Given the description of an element on the screen output the (x, y) to click on. 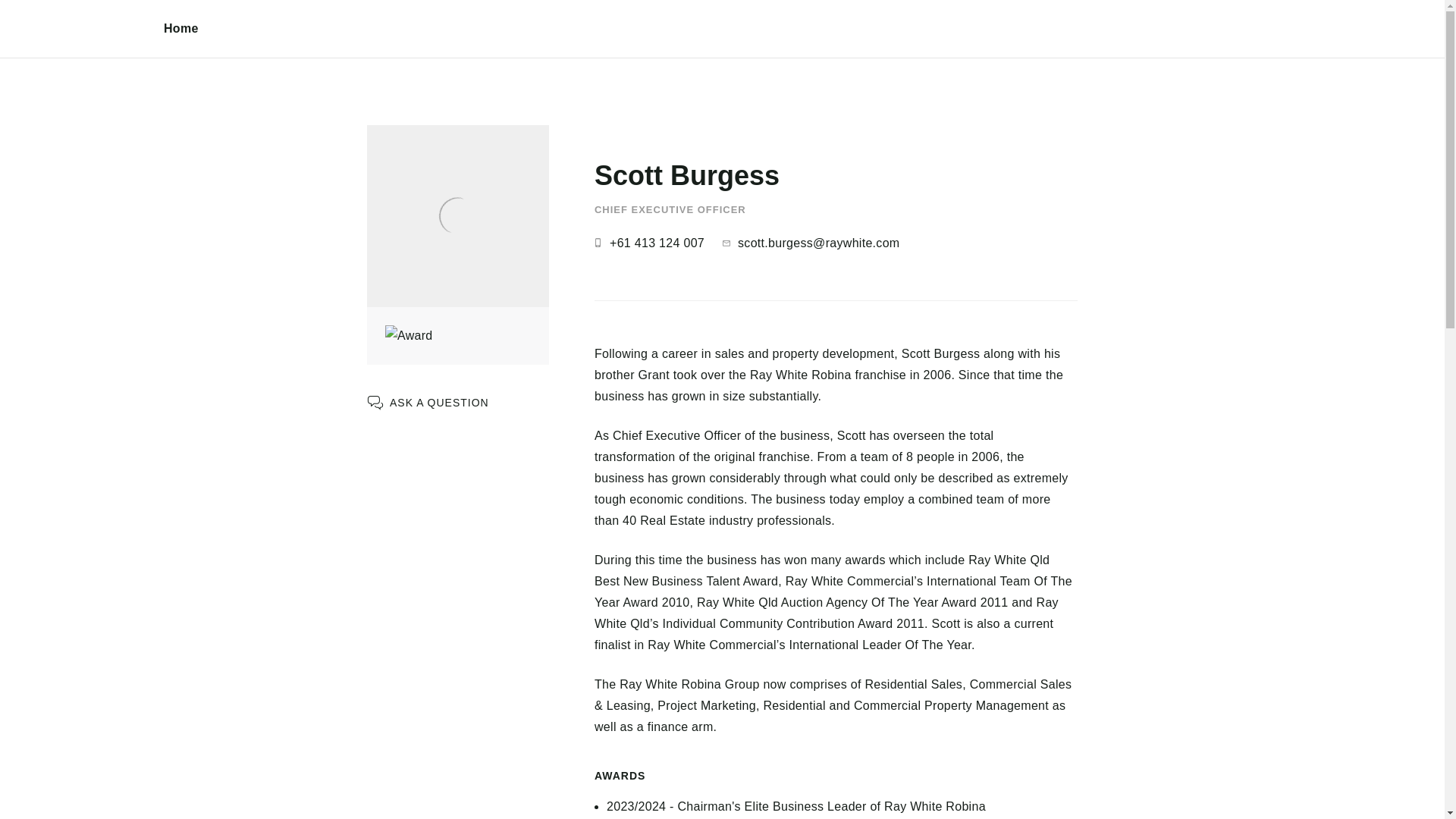
Home (180, 28)
ASK A QUESTION (427, 402)
RWC Robina (82, 45)
